Given the description of an element on the screen output the (x, y) to click on. 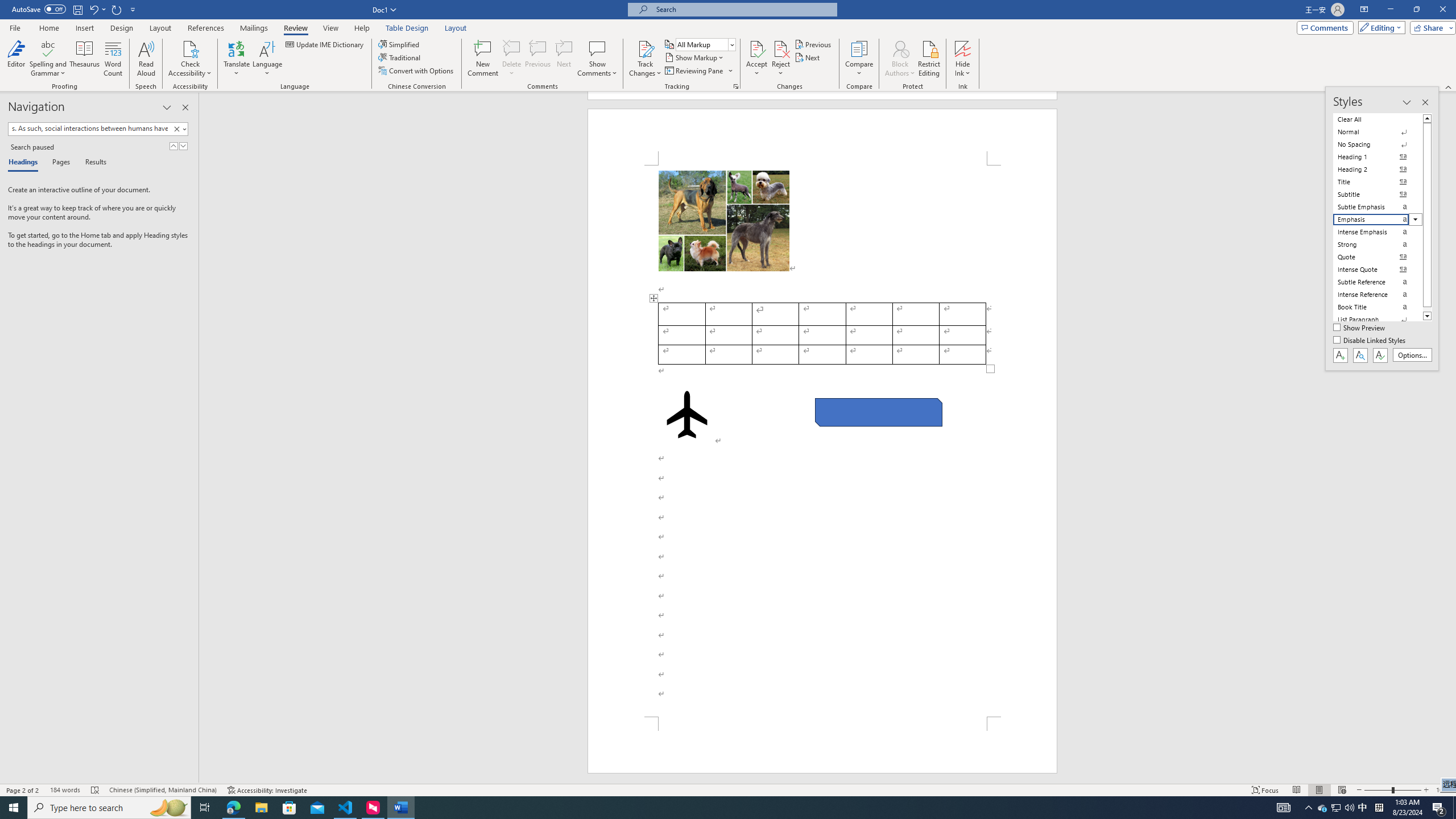
Rectangle: Diagonal Corners Snipped 2 (878, 412)
Delete (511, 48)
Clear (178, 128)
Previous Result (173, 145)
Strong (1377, 244)
Options... (1412, 354)
Clear All (1377, 119)
Accept and Move to Next (756, 48)
